Given the description of an element on the screen output the (x, y) to click on. 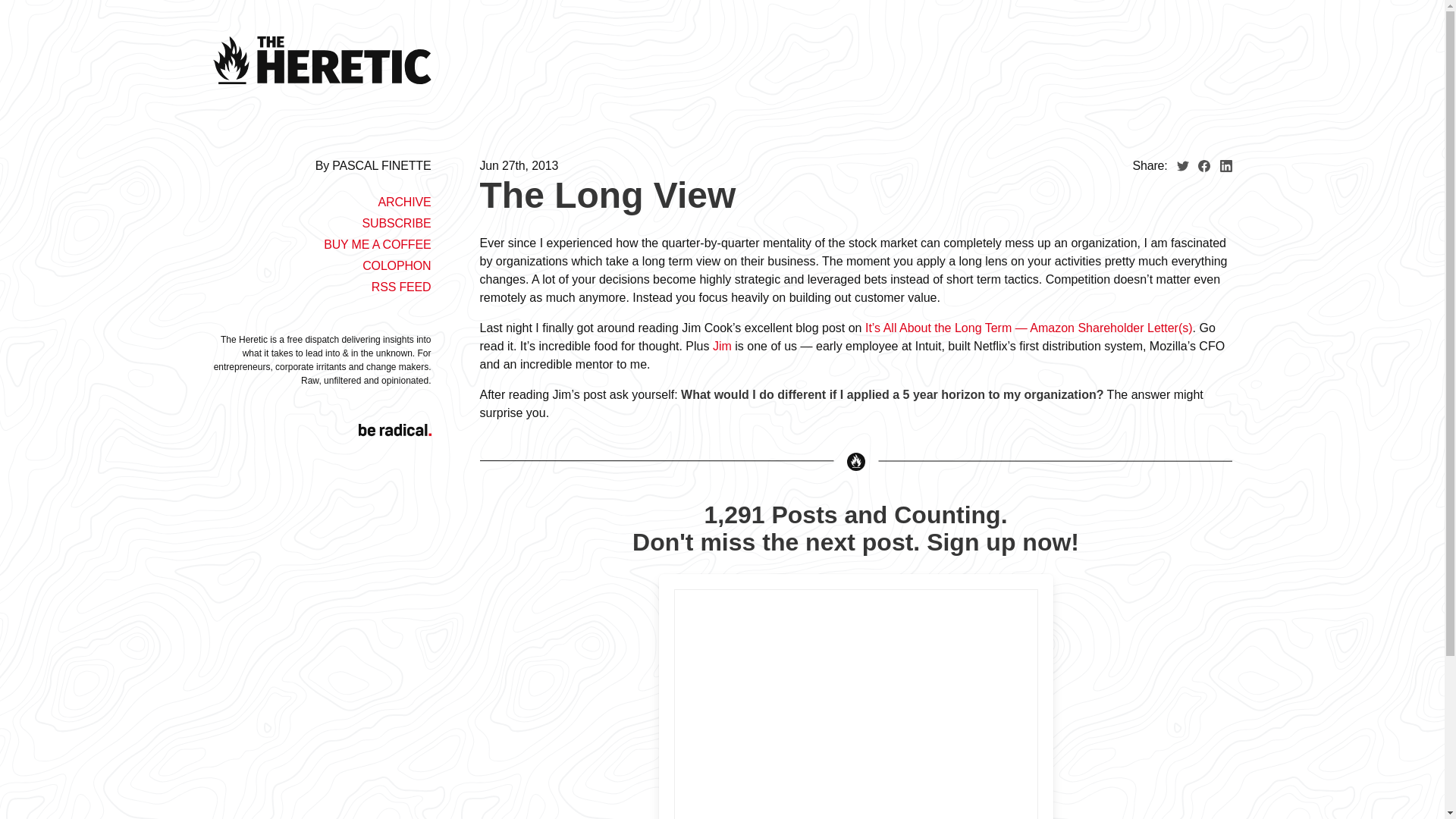
ARCHIVE (403, 201)
RSS FEED (400, 286)
COLOPHON (396, 265)
Jim (722, 345)
BUY ME A COFFEE (376, 244)
SUBSCRIBE (395, 223)
